Given the description of an element on the screen output the (x, y) to click on. 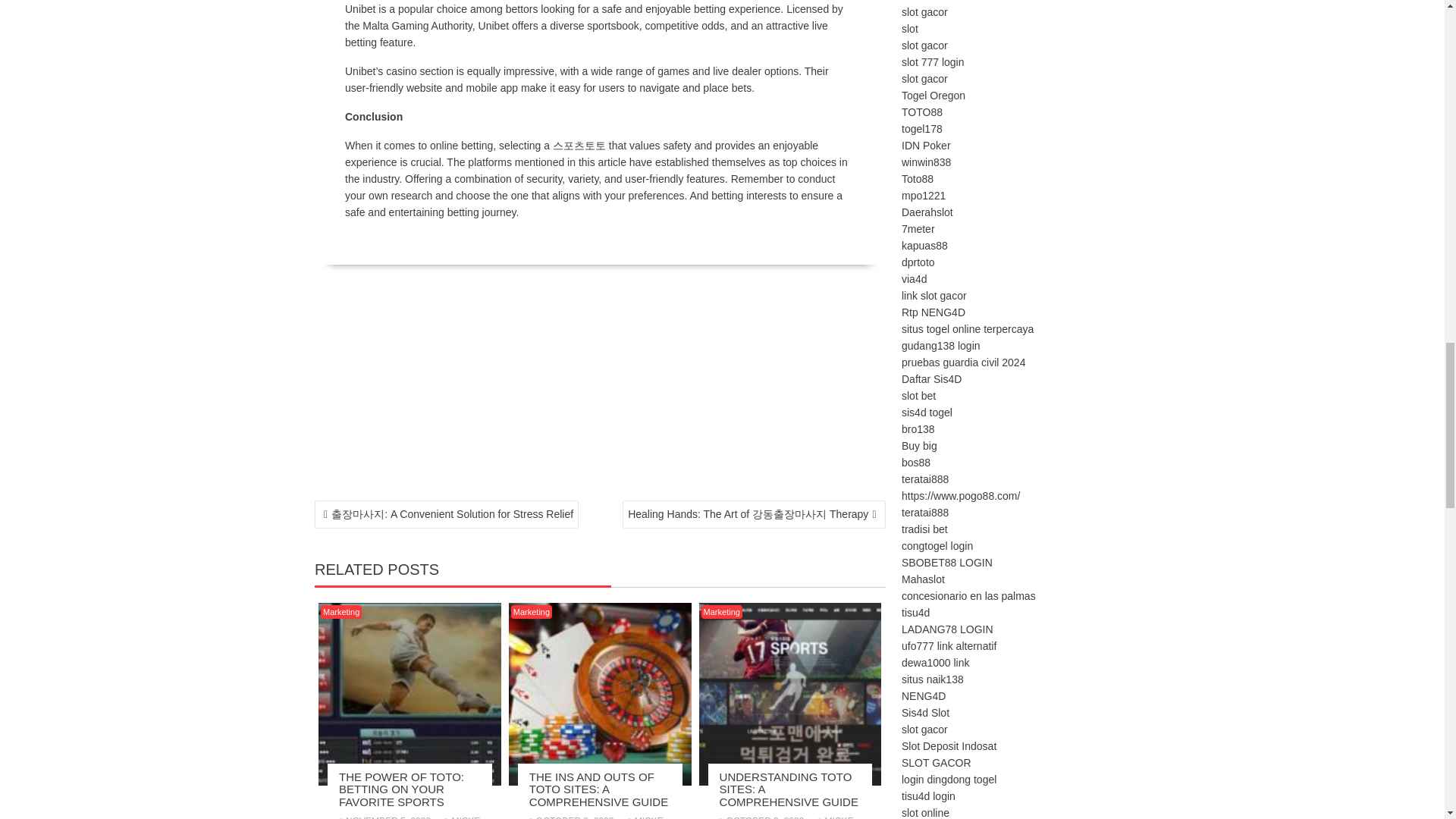
NOVEMBER 5, 2023 (384, 817)
OCTOBER 2, 2023 (571, 817)
Marketing (340, 612)
MICKE (645, 817)
THE INS AND OUTS OF TOTO SITES: A COMPREHENSIVE GUIDE (598, 789)
THE POWER OF TOTO: BETTING ON YOUR FAVORITE SPORTS (401, 789)
Marketing (531, 612)
Advertisement (599, 386)
MICKE (462, 817)
